Given the description of an element on the screen output the (x, y) to click on. 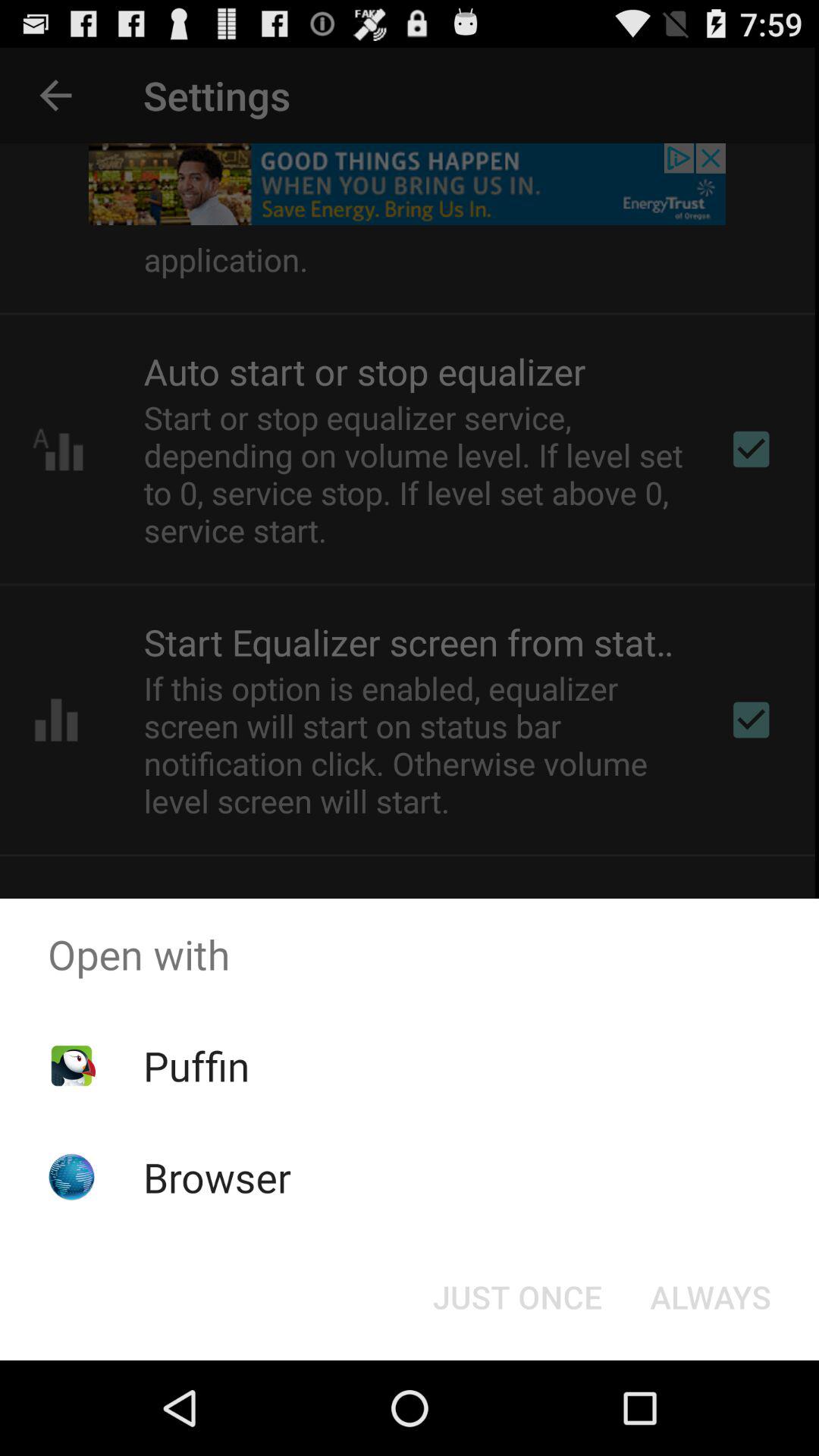
open the app below puffin icon (217, 1176)
